Given the description of an element on the screen output the (x, y) to click on. 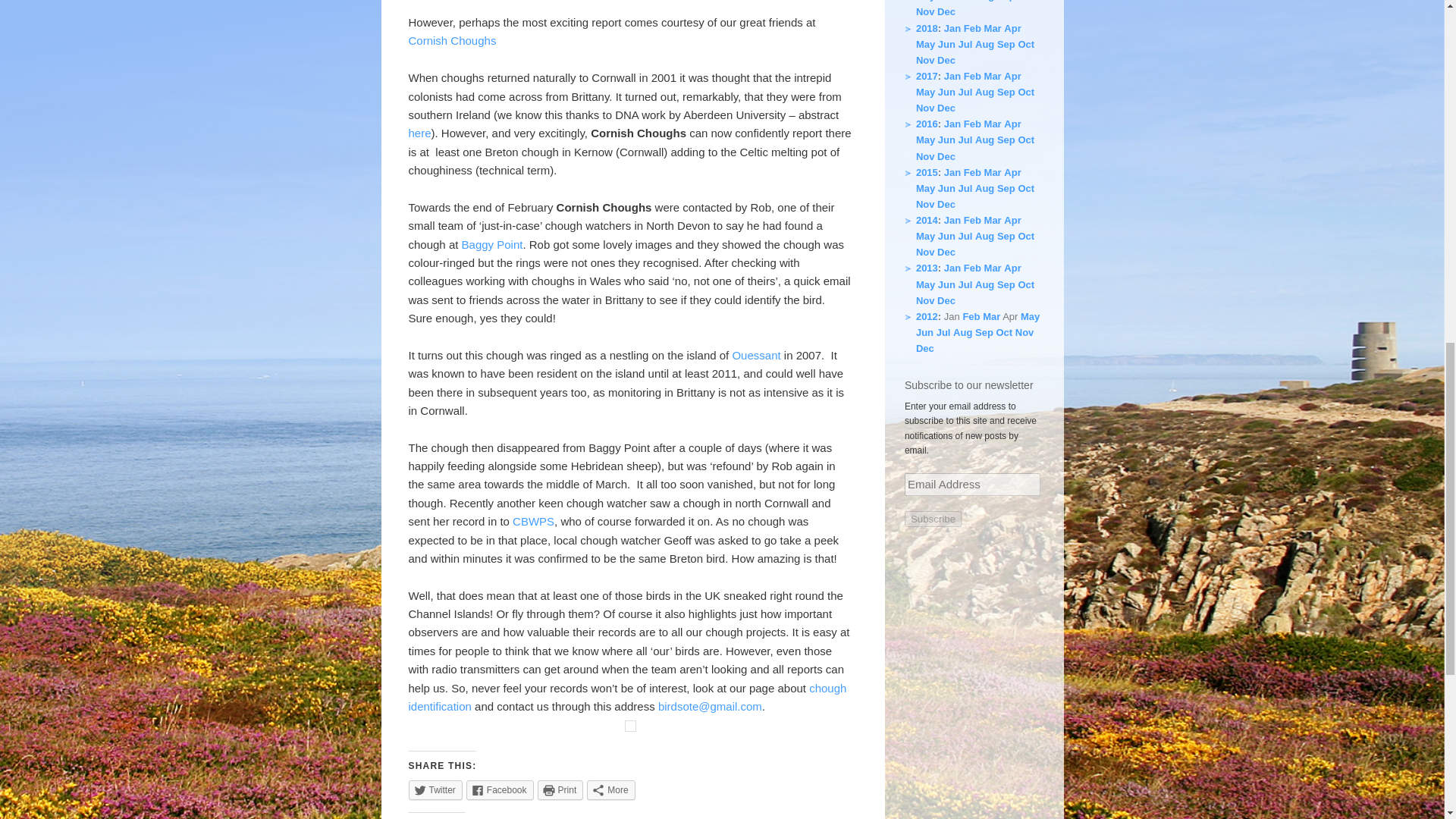
Click to share on Facebook (499, 790)
Click to print (560, 790)
Seen a chough? (626, 696)
Click to share on Twitter (434, 790)
